Given the description of an element on the screen output the (x, y) to click on. 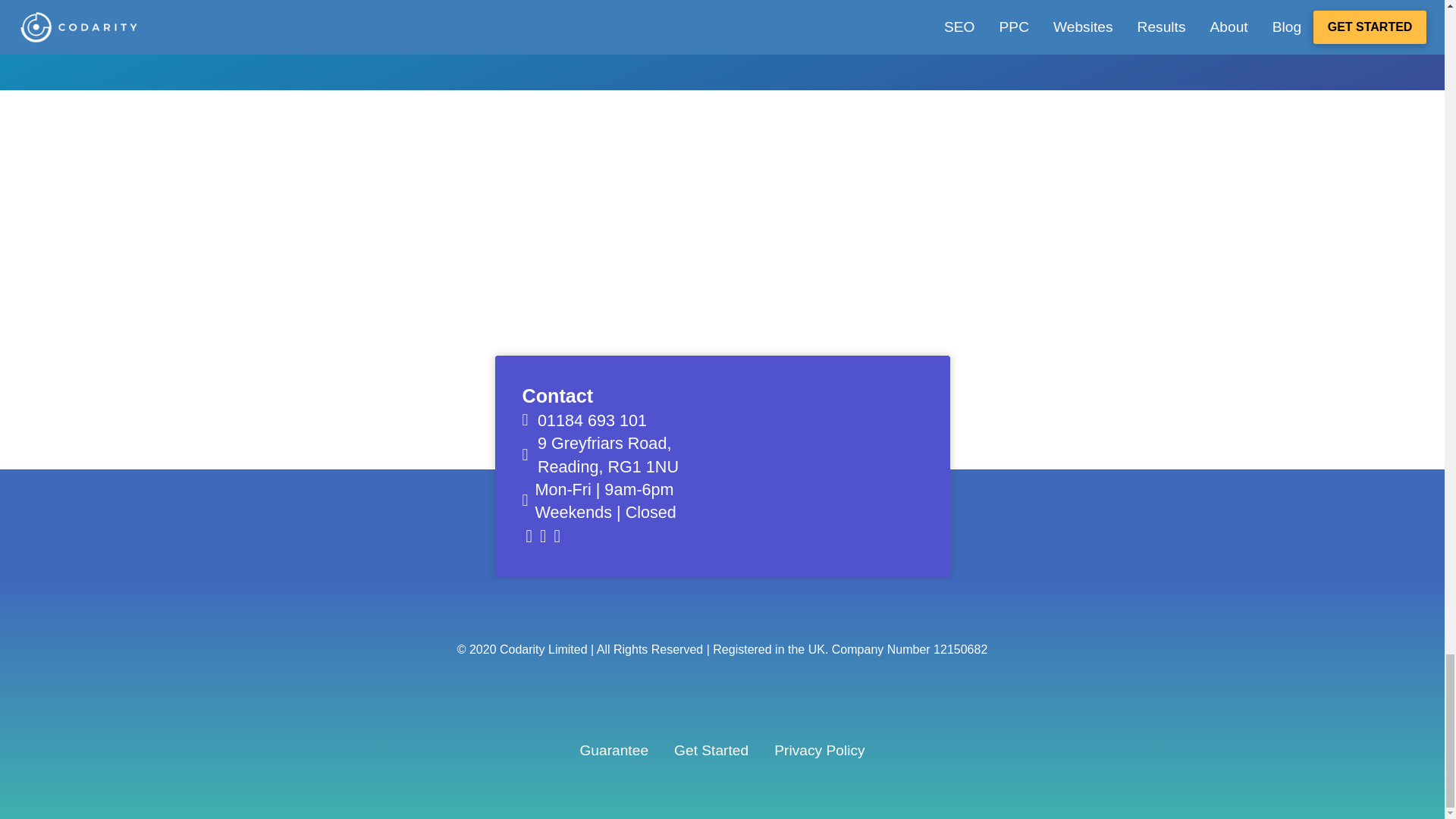
Get Started (607, 454)
Privacy Policy (711, 750)
Guarantee (819, 750)
01184 693 101 (613, 750)
